Given the description of an element on the screen output the (x, y) to click on. 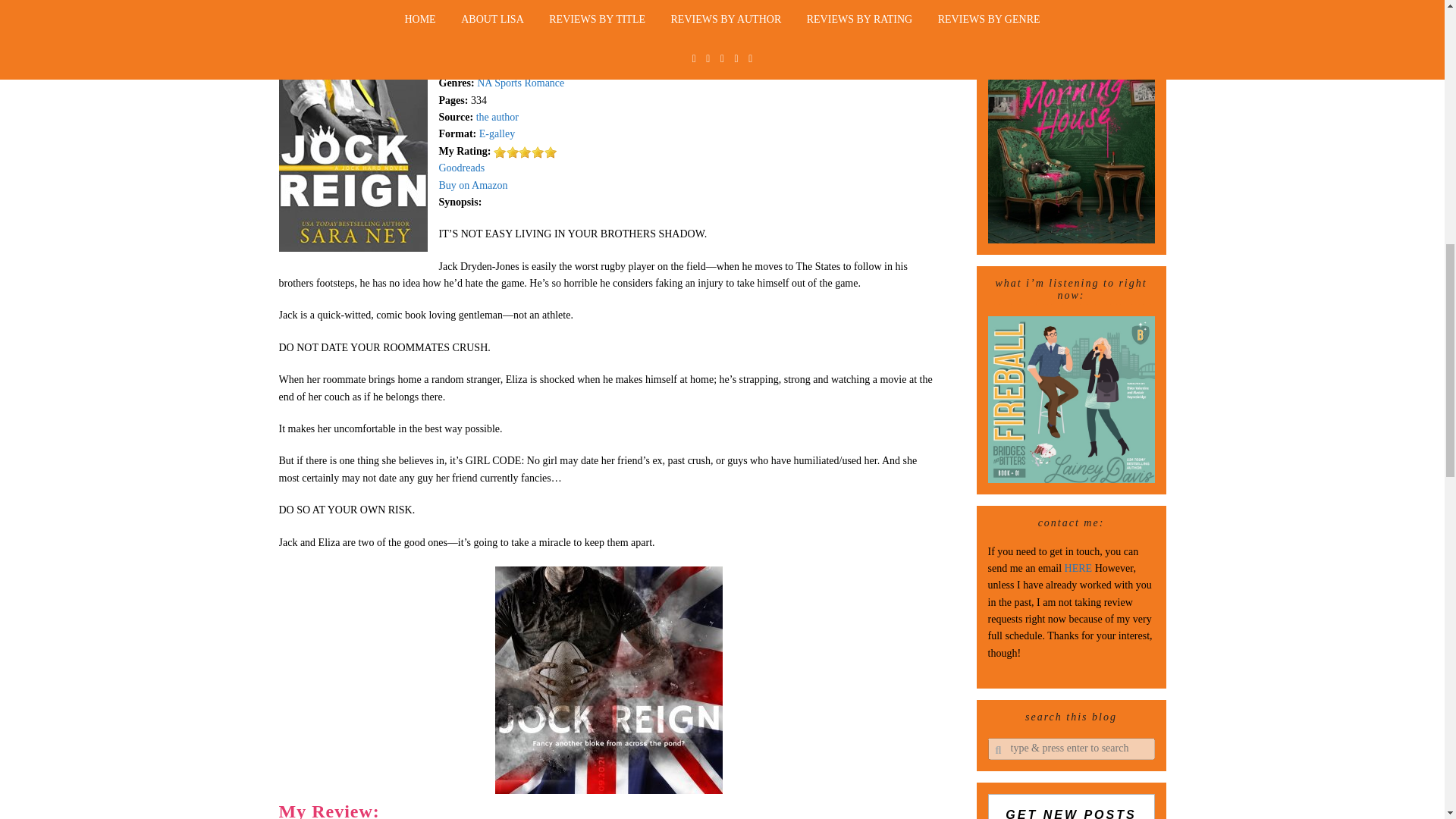
the author (497, 116)
Goodreads (461, 167)
NA Sports Romance (520, 82)
Buy on Amazon (472, 184)
E-galley (497, 133)
Sara Ney (524, 31)
